Given the description of an element on the screen output the (x, y) to click on. 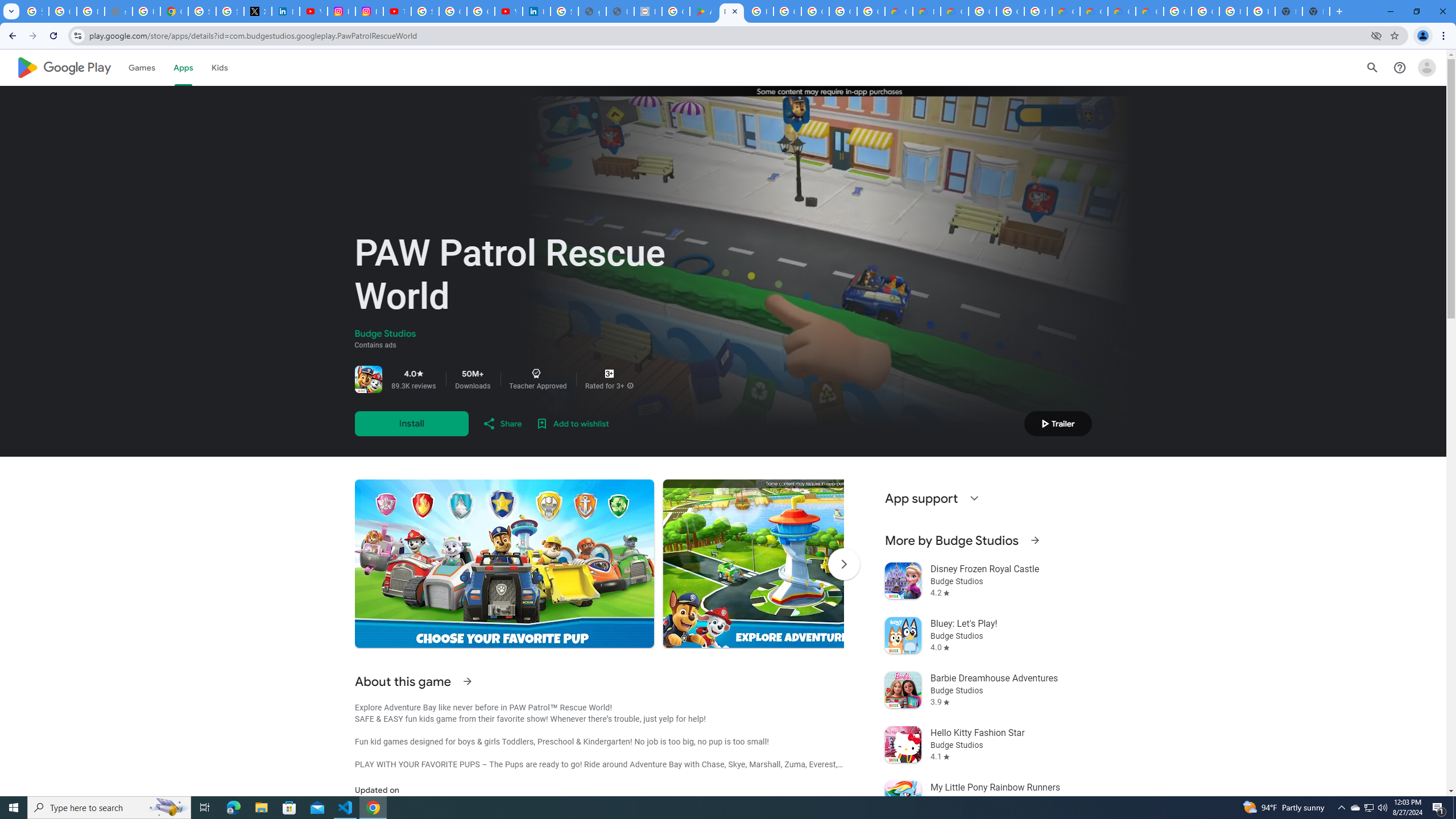
Install (410, 423)
Expand (973, 497)
Google Play logo (64, 67)
Google Cloud Pricing Calculator (1093, 11)
